Given the description of an element on the screen output the (x, y) to click on. 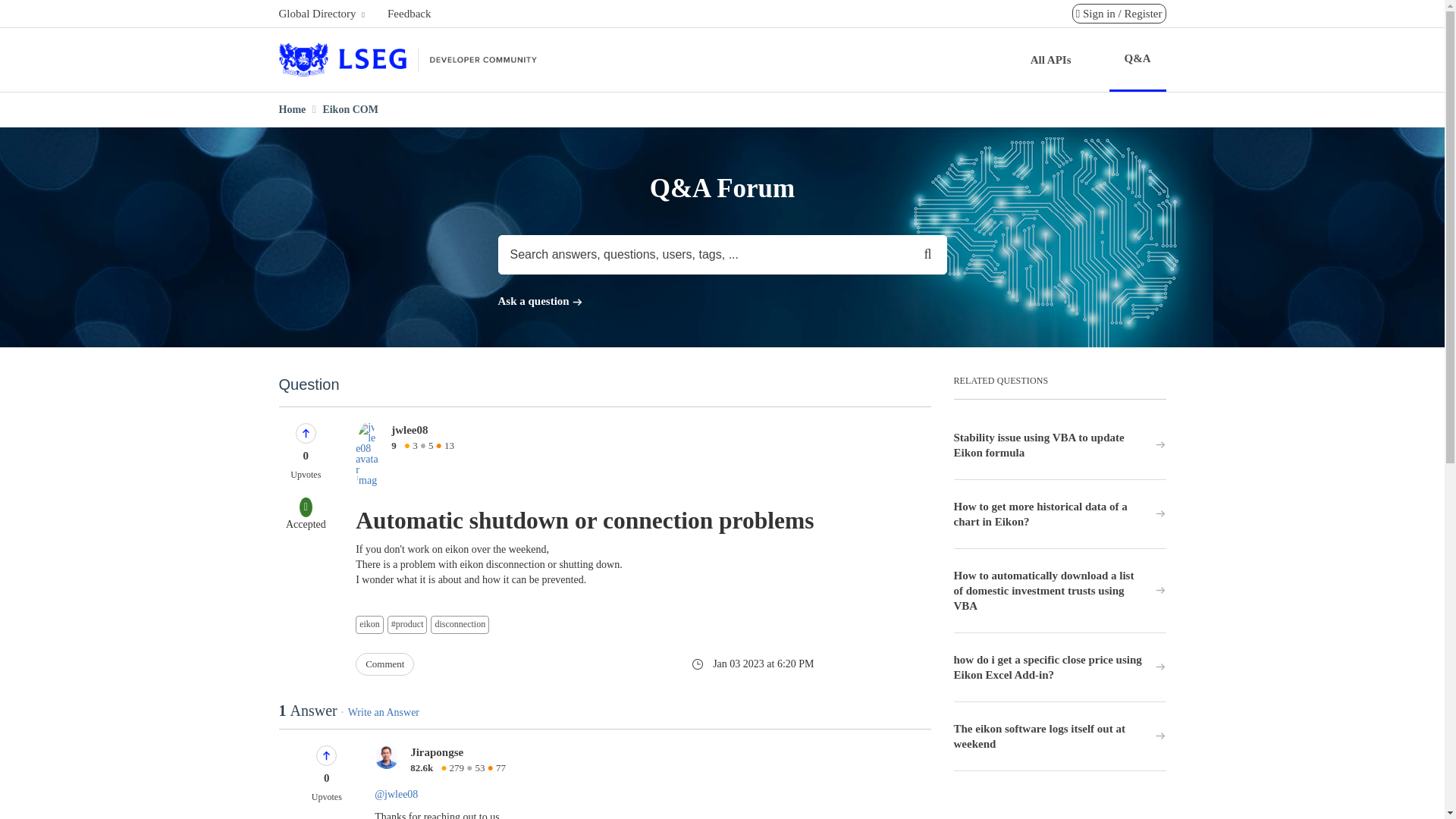
Jirapongse avatar image (386, 756)
